Given the description of an element on the screen output the (x, y) to click on. 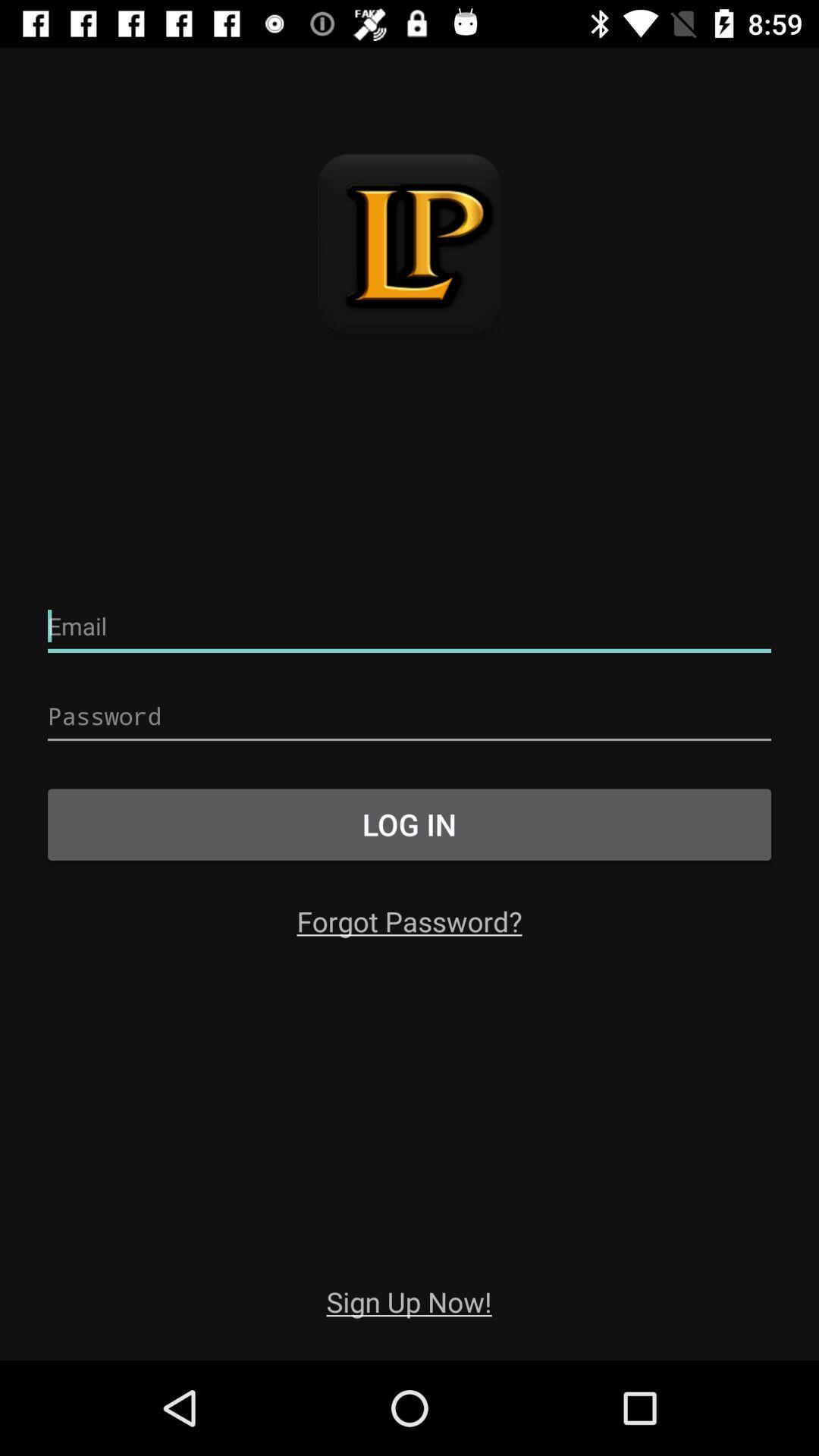
type email (409, 626)
